Given the description of an element on the screen output the (x, y) to click on. 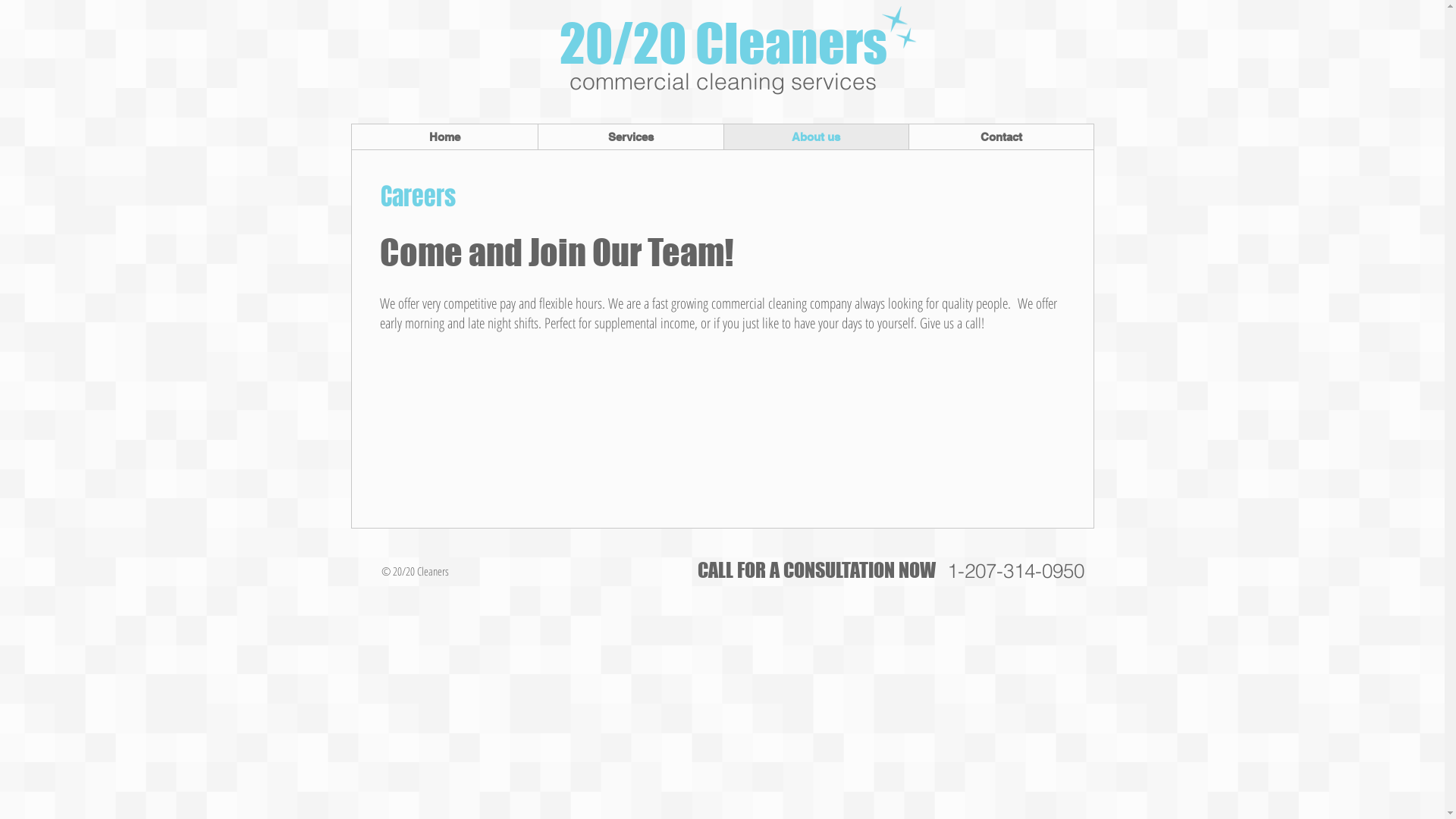
About us Element type: text (815, 136)
commercial cleaning services Element type: text (722, 80)
Home Element type: text (444, 136)
Contact Element type: text (1000, 136)
Services Element type: text (629, 136)
20/20 Cleaners Element type: text (723, 42)
